Given the description of an element on the screen output the (x, y) to click on. 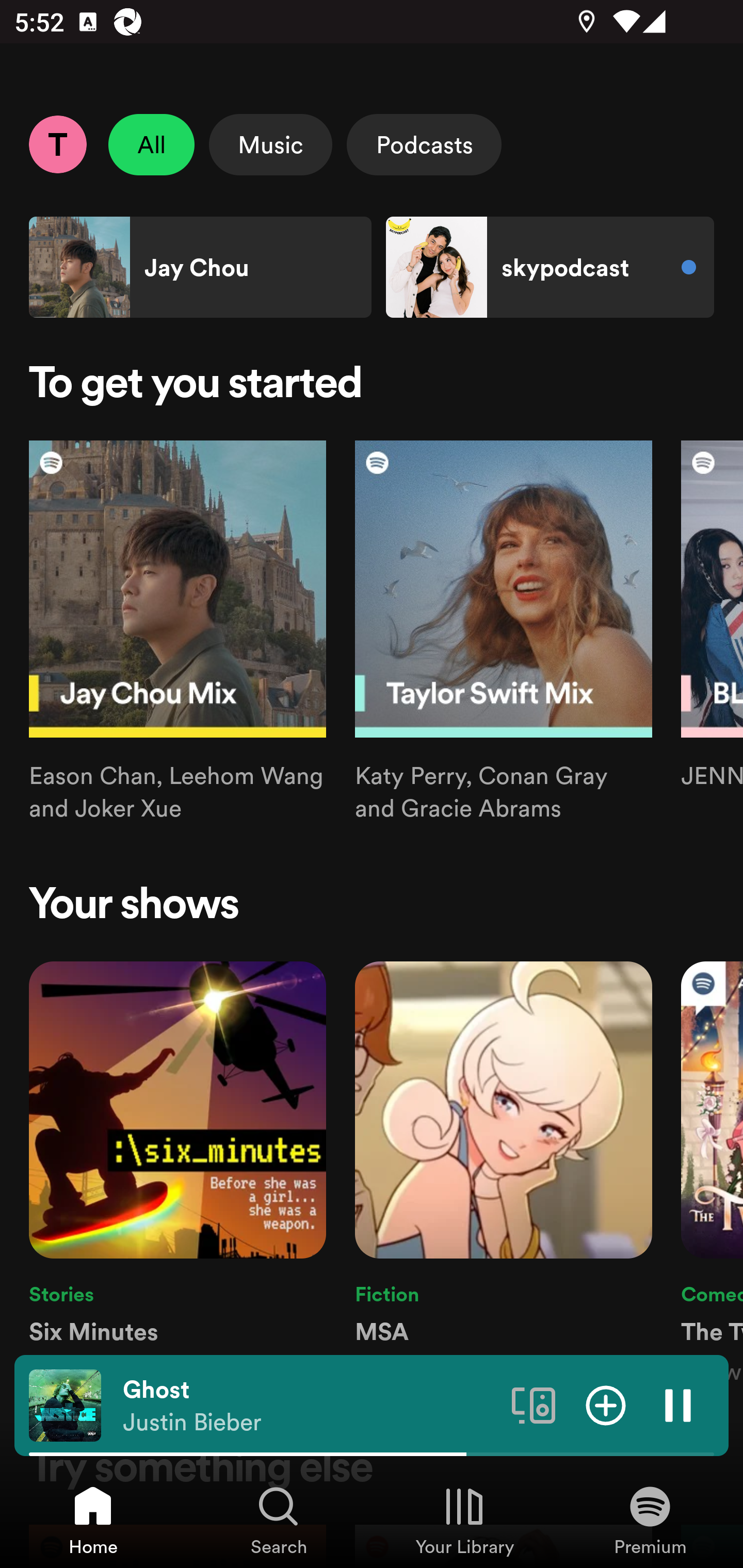
Profile (57, 144)
All Unselect All (151, 144)
Music Select Music (270, 144)
Podcasts Select Podcasts (423, 144)
Jay Chou Shortcut Jay Chou (199, 267)
skypodcast Shortcut skypodcast New content (549, 267)
Stories Six Minutes Show • GZM Shows (177, 1174)
Fiction MSA  Show • My Story Animated (503, 1174)
Ghost Justin Bieber (309, 1405)
The cover art of the currently playing track (64, 1404)
Connect to a device. Opens the devices menu (533, 1404)
Add item (605, 1404)
Pause (677, 1404)
Home, Tab 1 of 4 Home Home (92, 1519)
Search, Tab 2 of 4 Search Search (278, 1519)
Your Library, Tab 3 of 4 Your Library Your Library (464, 1519)
Premium, Tab 4 of 4 Premium Premium (650, 1519)
